Given the description of an element on the screen output the (x, y) to click on. 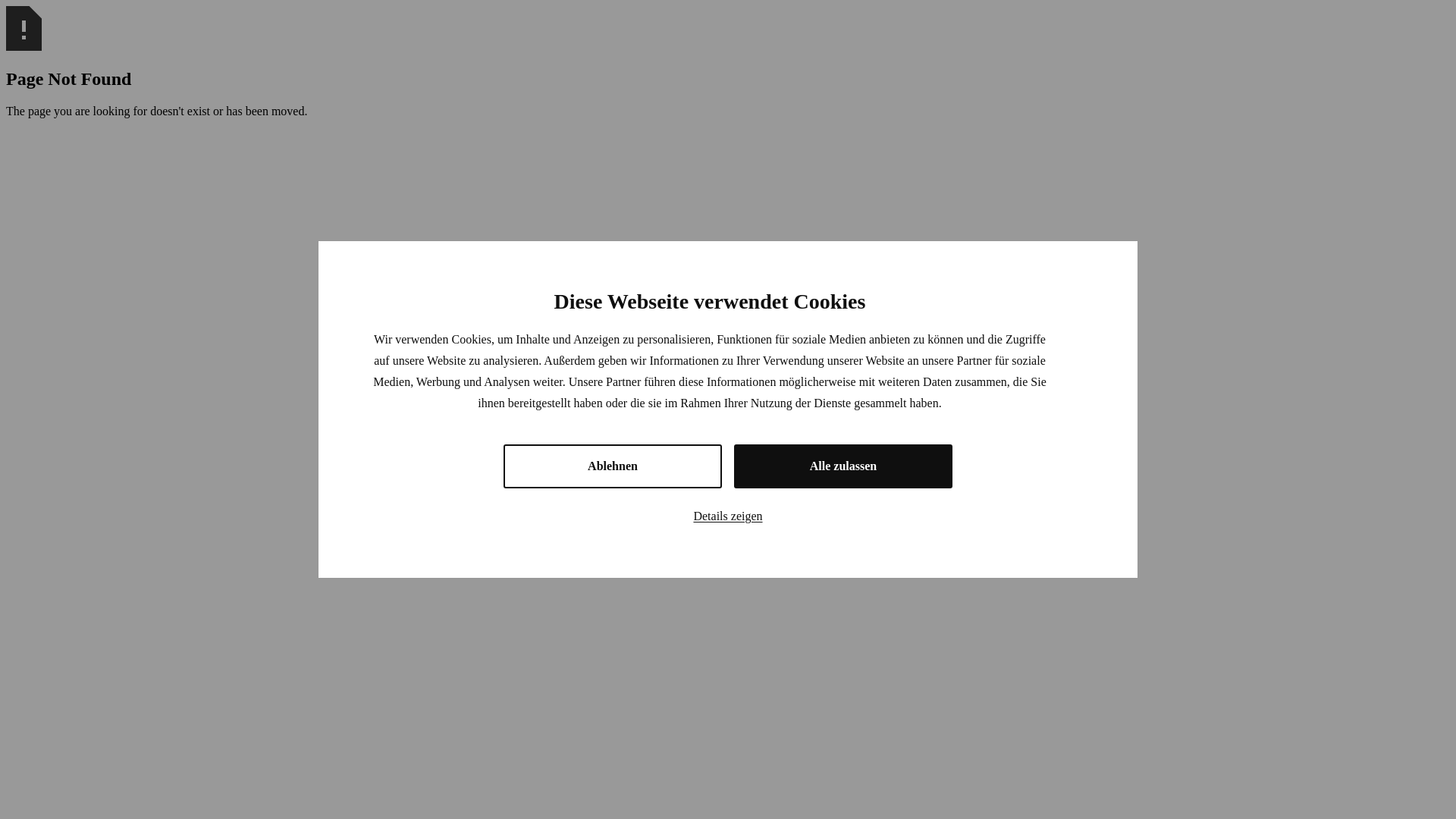
Alle zulassen Element type: text (843, 466)
Details zeigen Element type: text (727, 516)
Ablehnen Element type: text (612, 466)
